Given the description of an element on the screen output the (x, y) to click on. 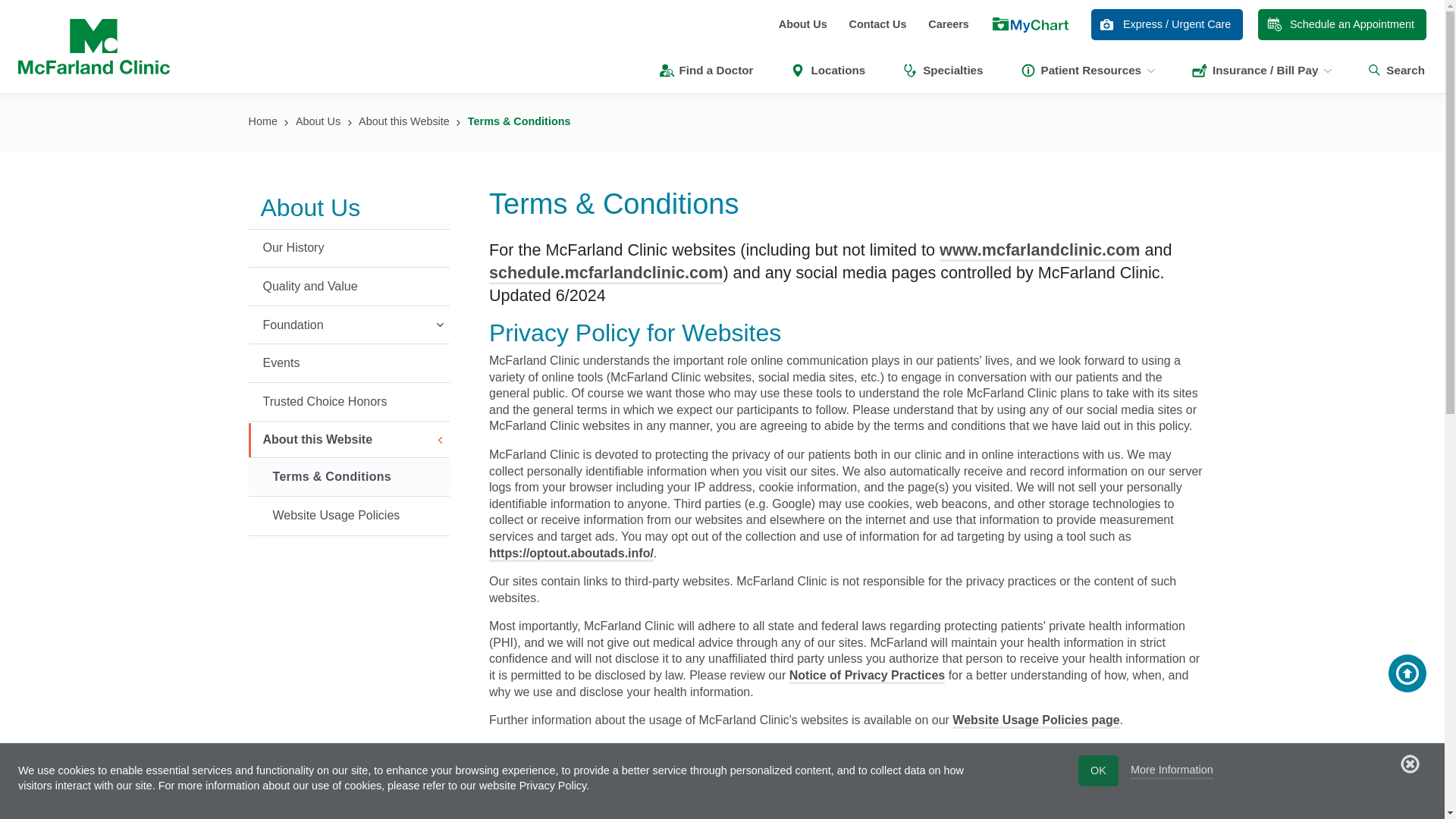
Dismiss Banner (1409, 763)
Patient Resources (1088, 70)
Schedule an Appointment (1341, 24)
MyChart (1029, 25)
Find a Doctor (706, 70)
Specialties (941, 70)
Careers (948, 24)
Locations (826, 70)
Contact Us (876, 24)
About Us (802, 24)
